Given the description of an element on the screen output the (x, y) to click on. 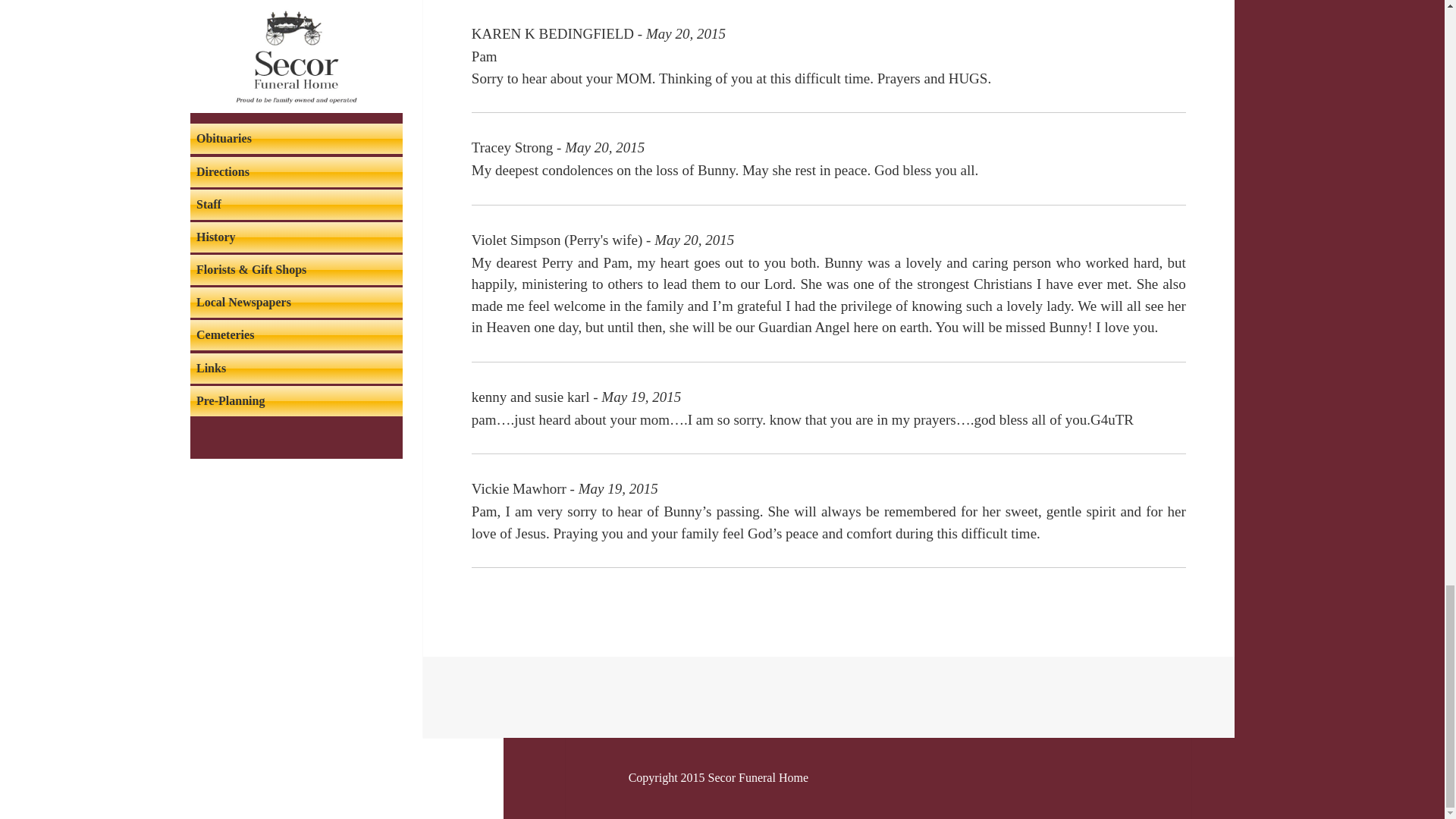
Copyright 2015 Secor Funeral Home (718, 777)
